Given the description of an element on the screen output the (x, y) to click on. 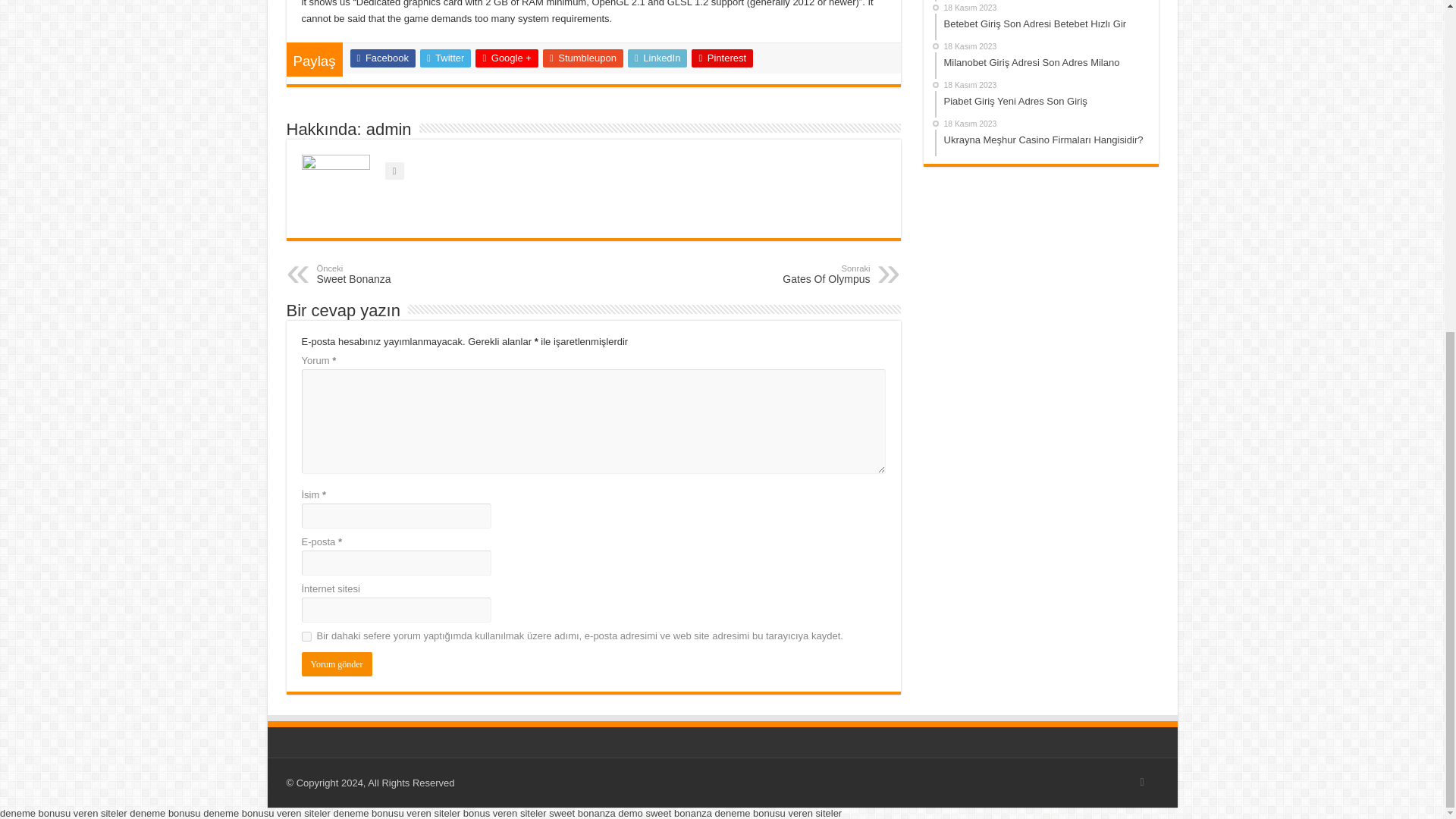
Facebook (382, 58)
Twitter (445, 58)
Pinterest (721, 58)
LinkedIn (657, 58)
Stumbleupon (583, 58)
yes (791, 274)
